Given the description of an element on the screen output the (x, y) to click on. 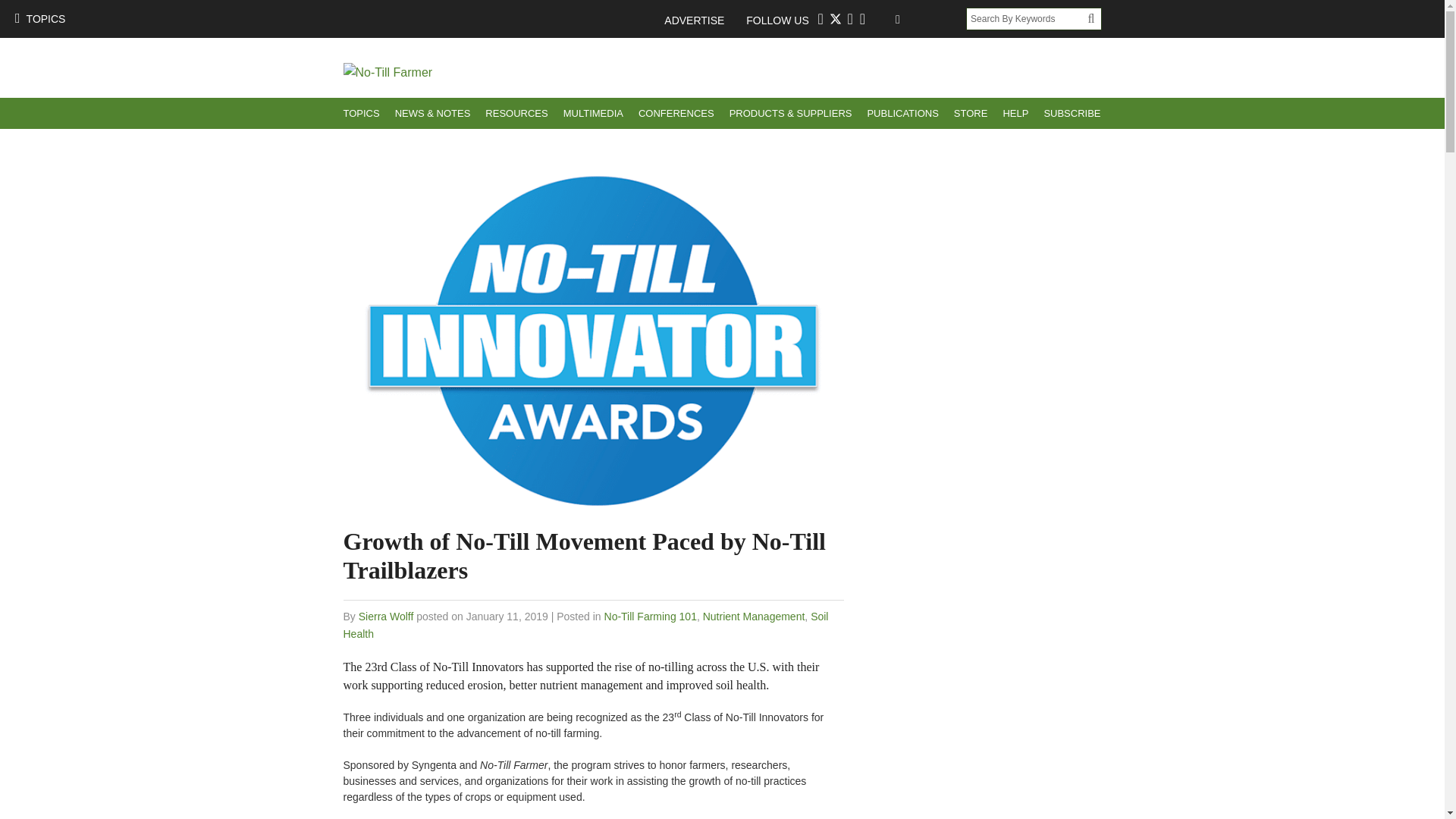
Search By Keywords (1026, 18)
TOPICS (360, 112)
TOPICS (39, 18)
Search By Keywords (1026, 18)
ADVERTISE (701, 20)
